Given the description of an element on the screen output the (x, y) to click on. 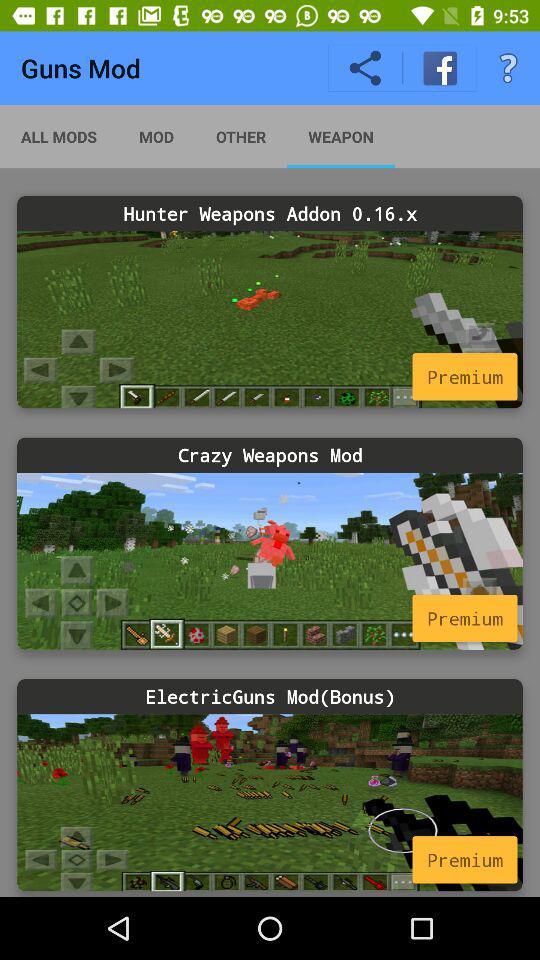
tap the other item (240, 136)
